Given the description of an element on the screen output the (x, y) to click on. 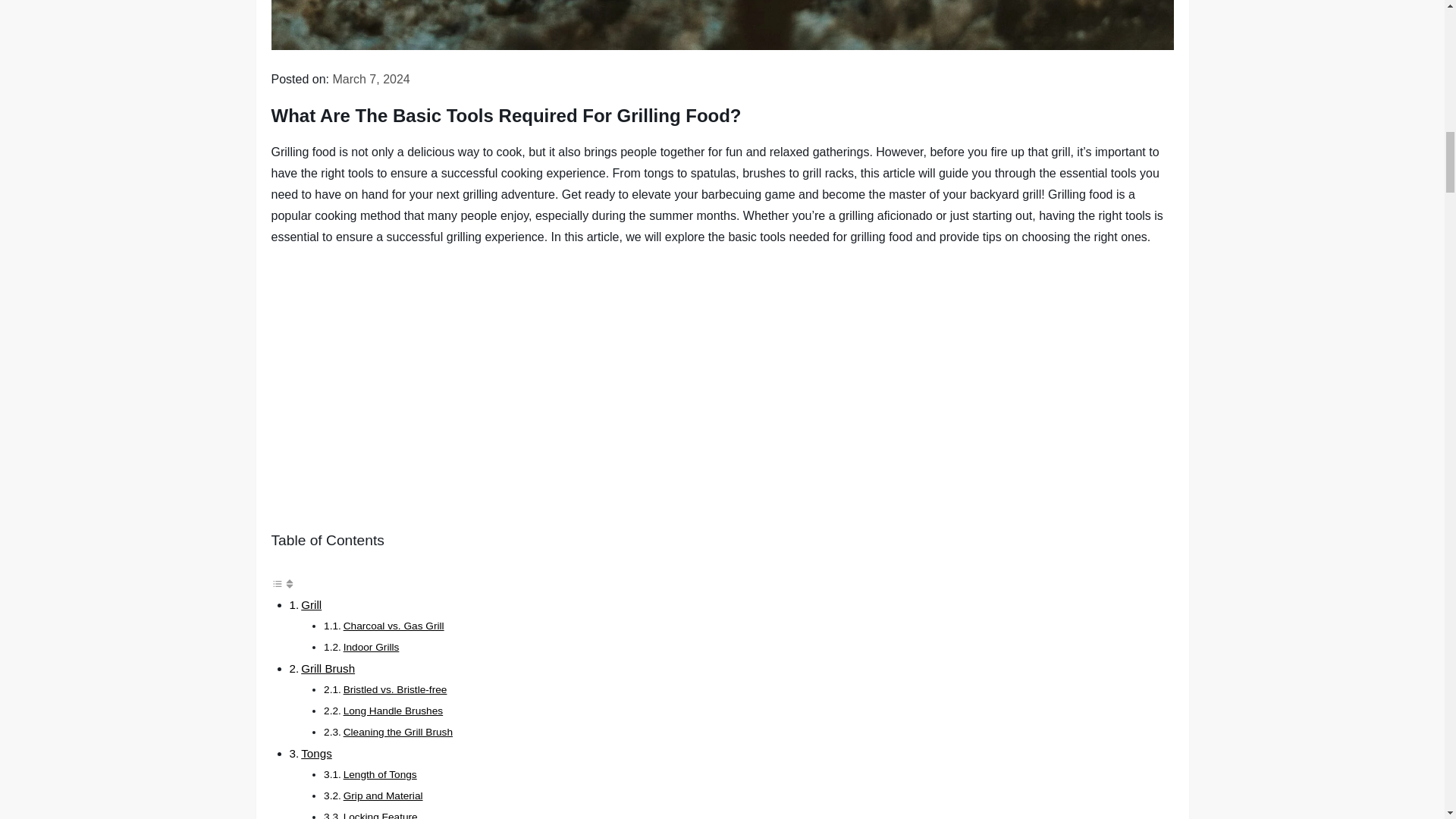
Cleaning the Grill Brush (397, 731)
Indoor Grills (370, 646)
March 7, 2024 (370, 78)
Locking Feature (380, 815)
Indoor Grills (370, 646)
Grip and Material (383, 795)
Charcoal vs. Gas Grill (393, 625)
Length of Tongs (379, 774)
Grill Brush (328, 667)
Long Handle Brushes (393, 710)
